Given the description of an element on the screen output the (x, y) to click on. 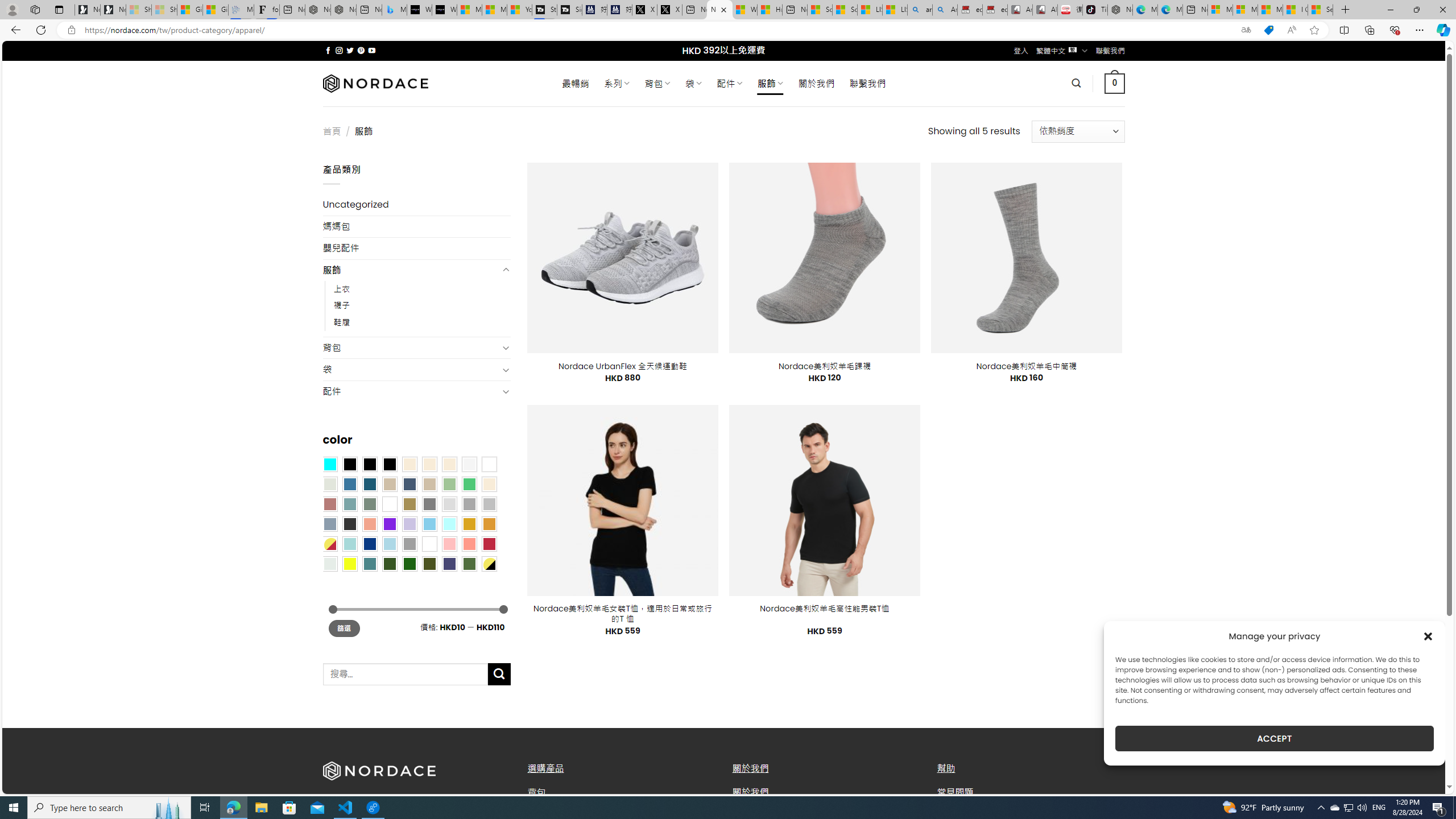
I Gained 20 Pounds of Muscle in 30 Days! | Watch (1295, 9)
